Given the description of an element on the screen output the (x, y) to click on. 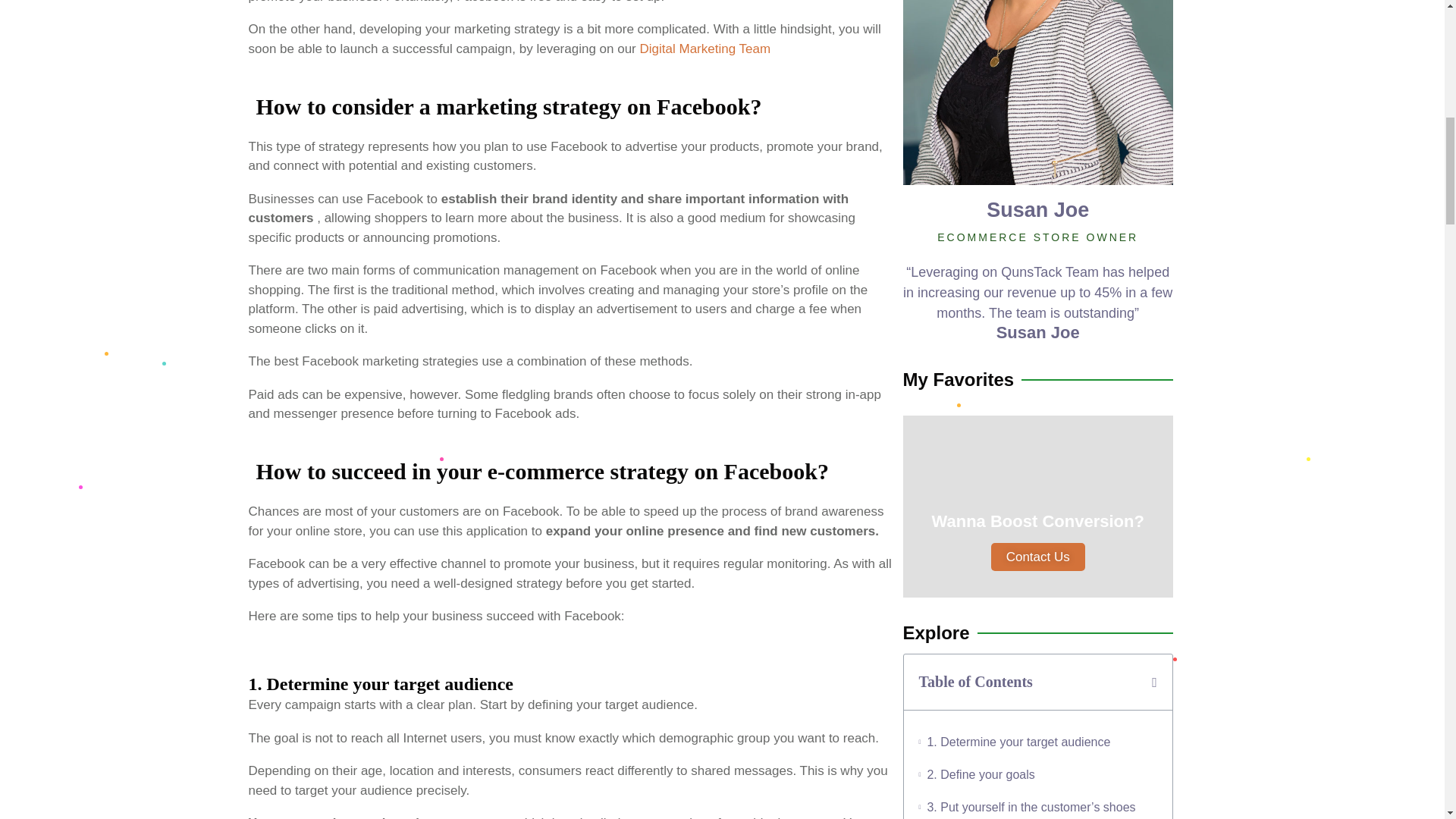
Contact Us (1037, 556)
2. Define your goals (979, 774)
1. Determine your target audience (1017, 742)
woman-smiling-at-the-camera-1181686.jpg (1037, 92)
Digital Marketing Team (705, 48)
